Given the description of an element on the screen output the (x, y) to click on. 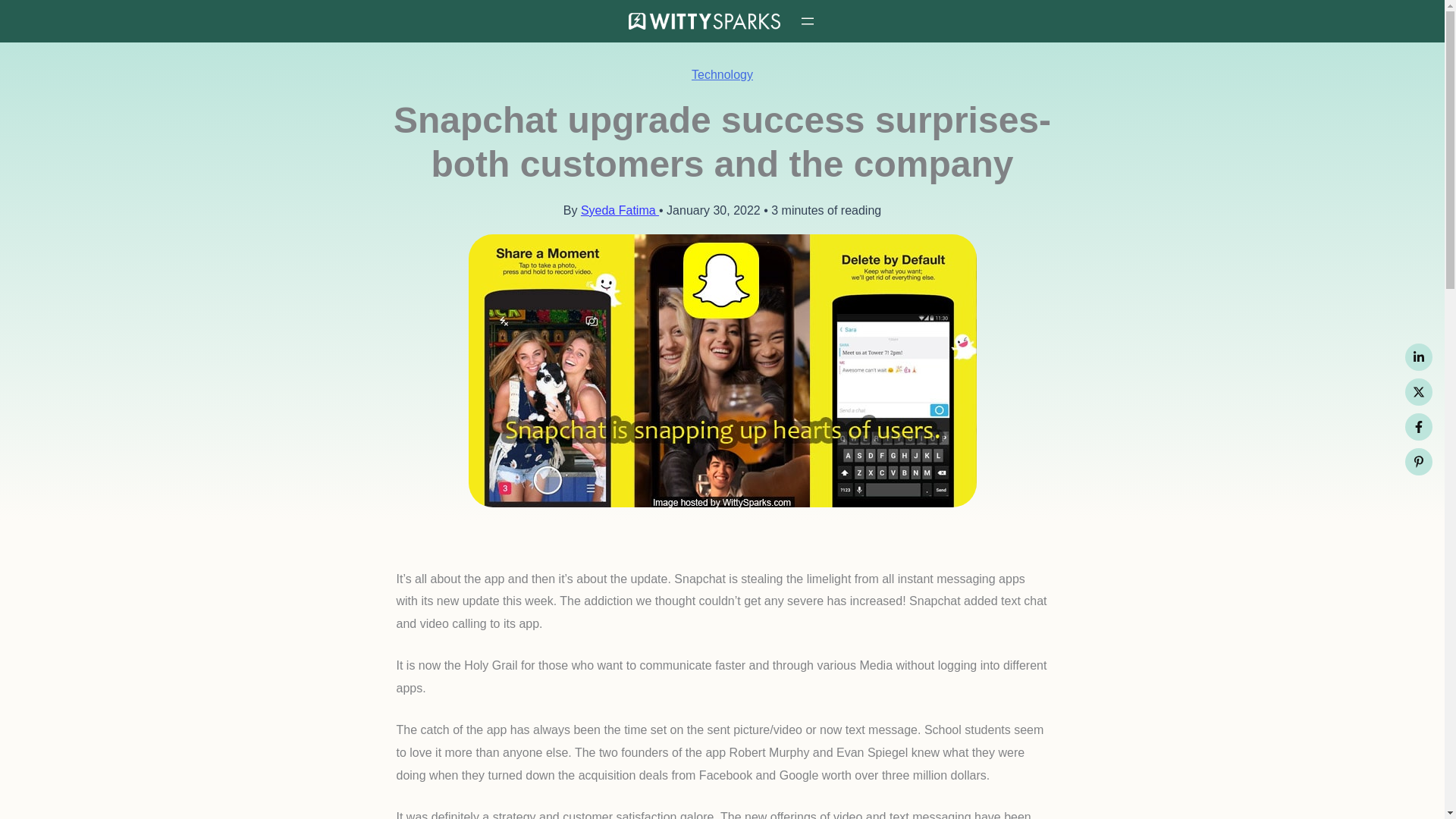
View all posts by Syeda Fatima (619, 210)
Technology (721, 74)
Syeda Fatima (619, 210)
